Given the description of an element on the screen output the (x, y) to click on. 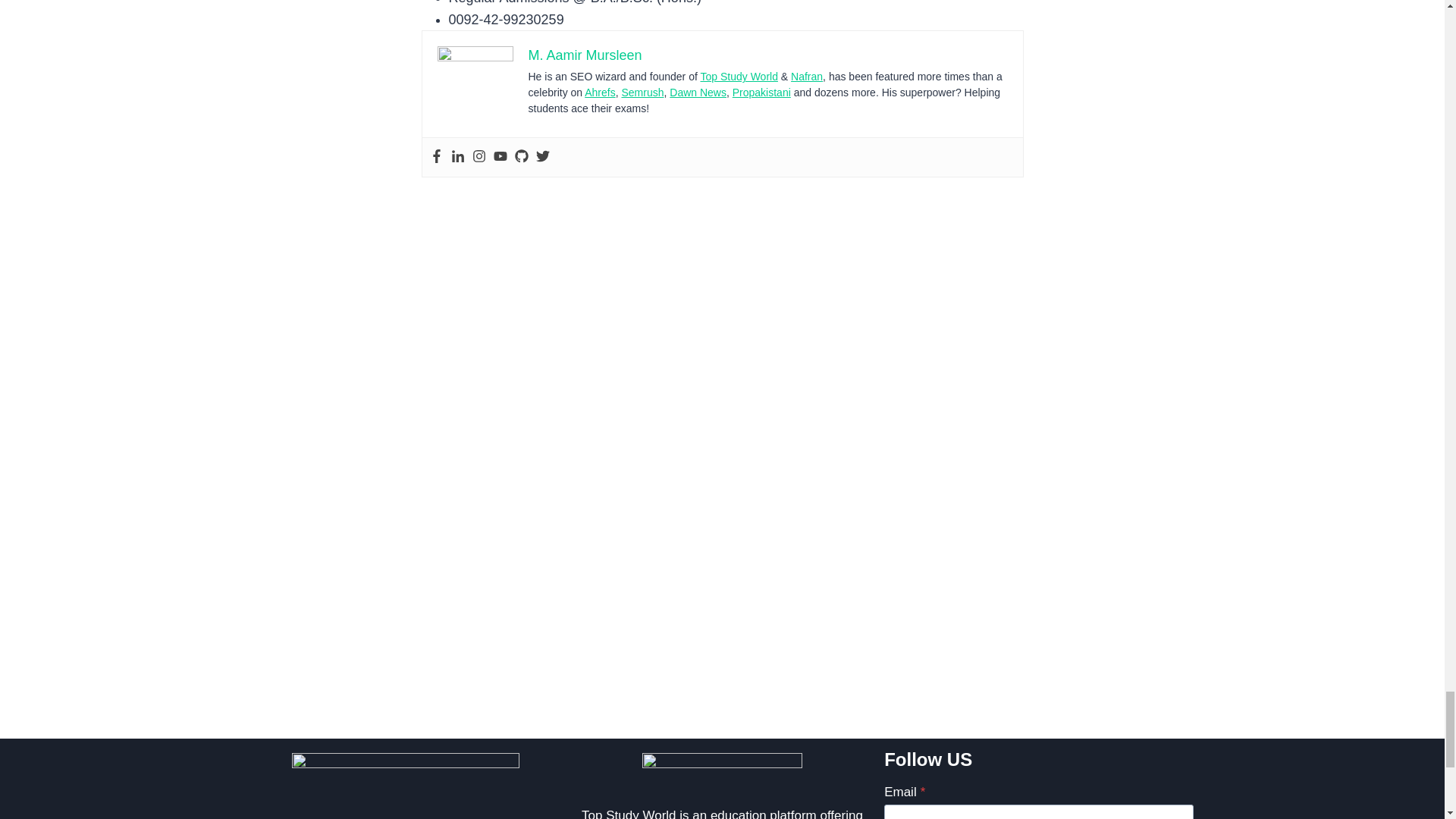
Semrush (642, 92)
M. Aamir Mursleen (584, 55)
Twitter (541, 157)
Top Study World (738, 76)
Facebook (435, 157)
Propakistani (761, 92)
Linkedin (456, 157)
Youtube (499, 157)
Github (520, 157)
Nafran (806, 76)
Instagram (477, 157)
Ahrefs (599, 92)
Dawn News (697, 92)
